Given the description of an element on the screen output the (x, y) to click on. 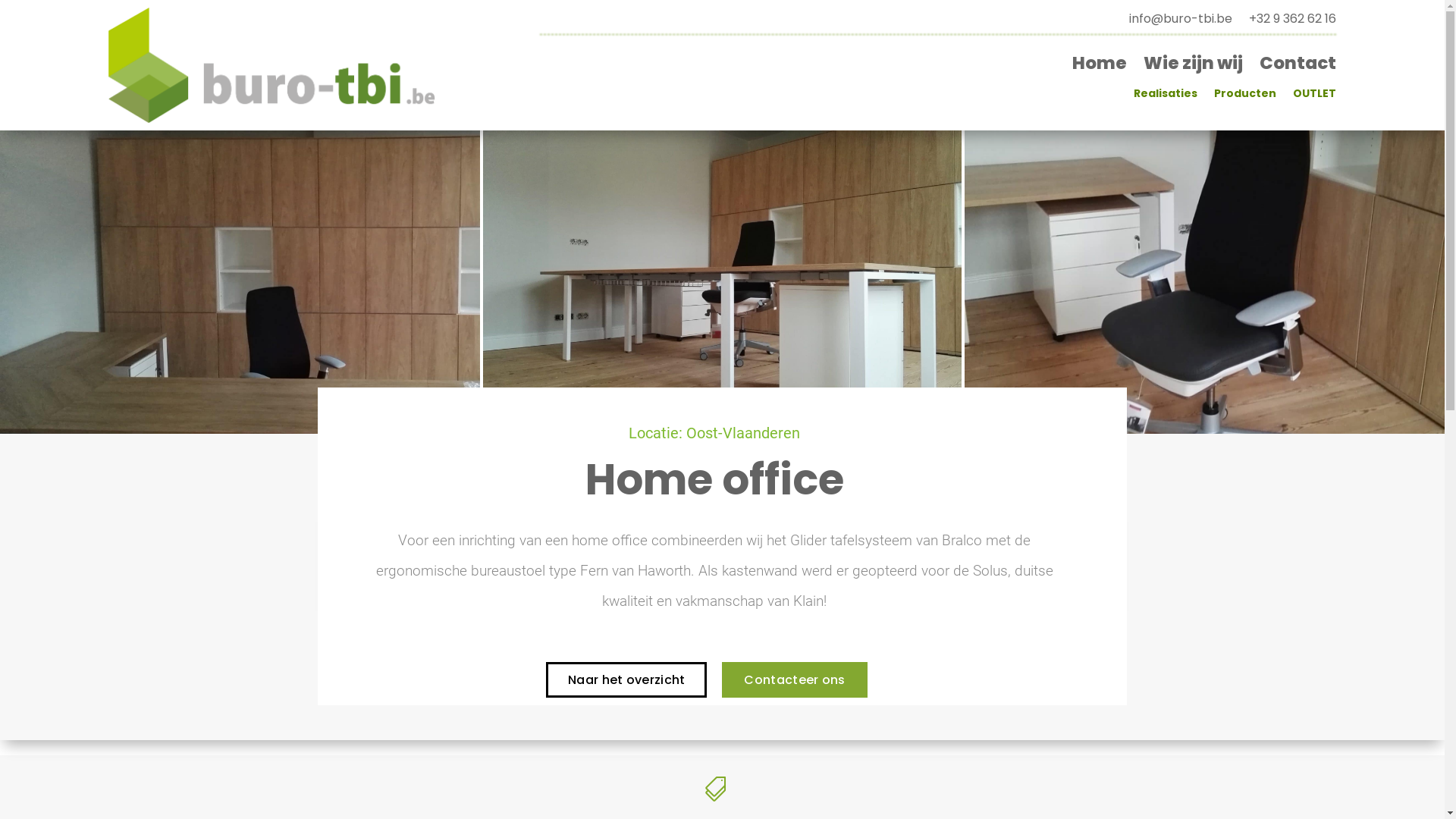
OUTLET Element type: text (1314, 95)
Contacteer ons Element type: text (793, 679)
+32 9 362 62 16 Element type: text (1292, 21)
Contact Element type: text (1297, 65)
Wie zijn wij Element type: text (1192, 65)
Realisaties Element type: text (1165, 95)
Home Element type: text (1099, 65)
Producten Element type: text (1245, 95)
logo_BuroTBI Element type: hover (272, 64)
Naar het overzicht Element type: text (626, 679)
info@buro-tbi.be Element type: text (1180, 21)
